Given the description of an element on the screen output the (x, y) to click on. 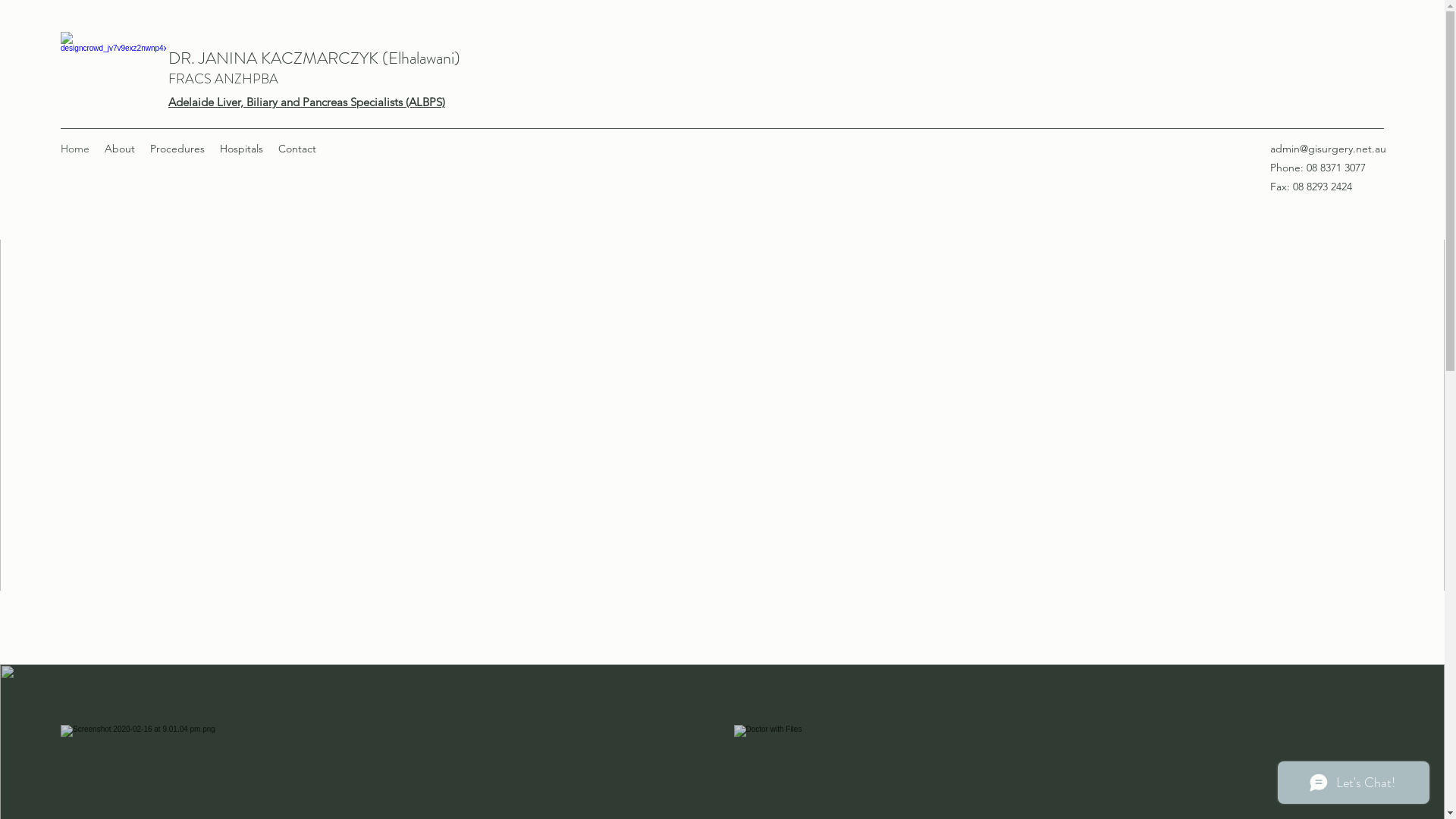
admin@gisurgery.net.au Element type: text (1328, 148)
DR. JANINA KACZMARCZYK (Elhalawani) Element type: text (314, 57)
Procedures Element type: text (177, 148)
Contact Element type: text (296, 148)
Hospitals Element type: text (241, 148)
Adelaide Liver, Biliary and Pancreas Specialists (ALBPS) Element type: text (306, 101)
Home Element type: text (75, 148)
About Element type: text (119, 148)
